Given the description of an element on the screen output the (x, y) to click on. 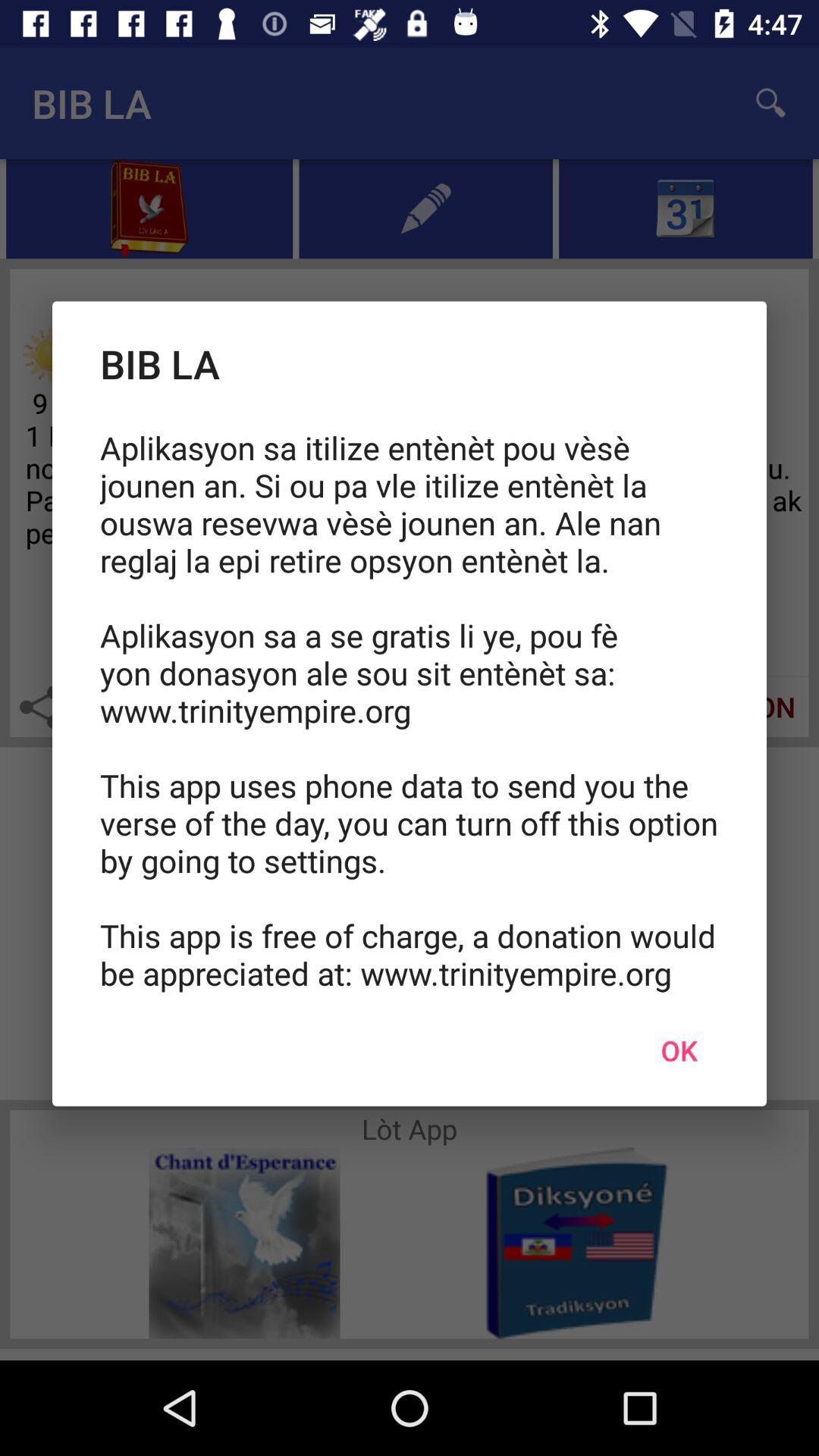
jump to ok (678, 1050)
